Given the description of an element on the screen output the (x, y) to click on. 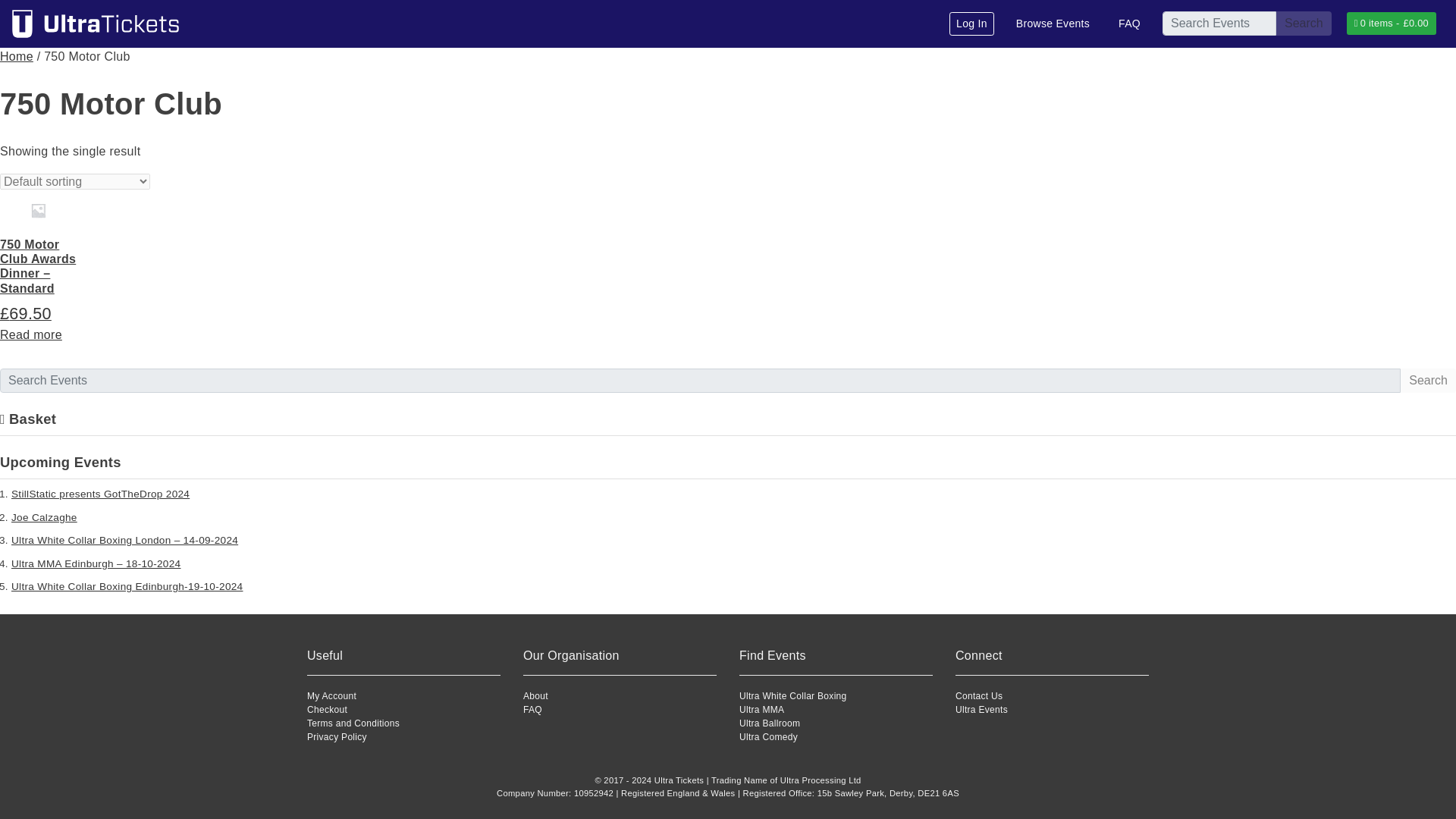
About (535, 696)
Joe Calzaghe (44, 517)
Log In (971, 24)
Home (16, 56)
Ultra Events (981, 709)
Search (1304, 23)
Contact Us (979, 696)
FAQ (531, 709)
Ultra Comedy (768, 737)
Search (1304, 23)
Ultra White Collar Boxing (793, 696)
Privacy Policy (336, 737)
FAQ (1129, 24)
Browse Events (1052, 24)
View your shopping cart (1390, 23)
